Given the description of an element on the screen output the (x, y) to click on. 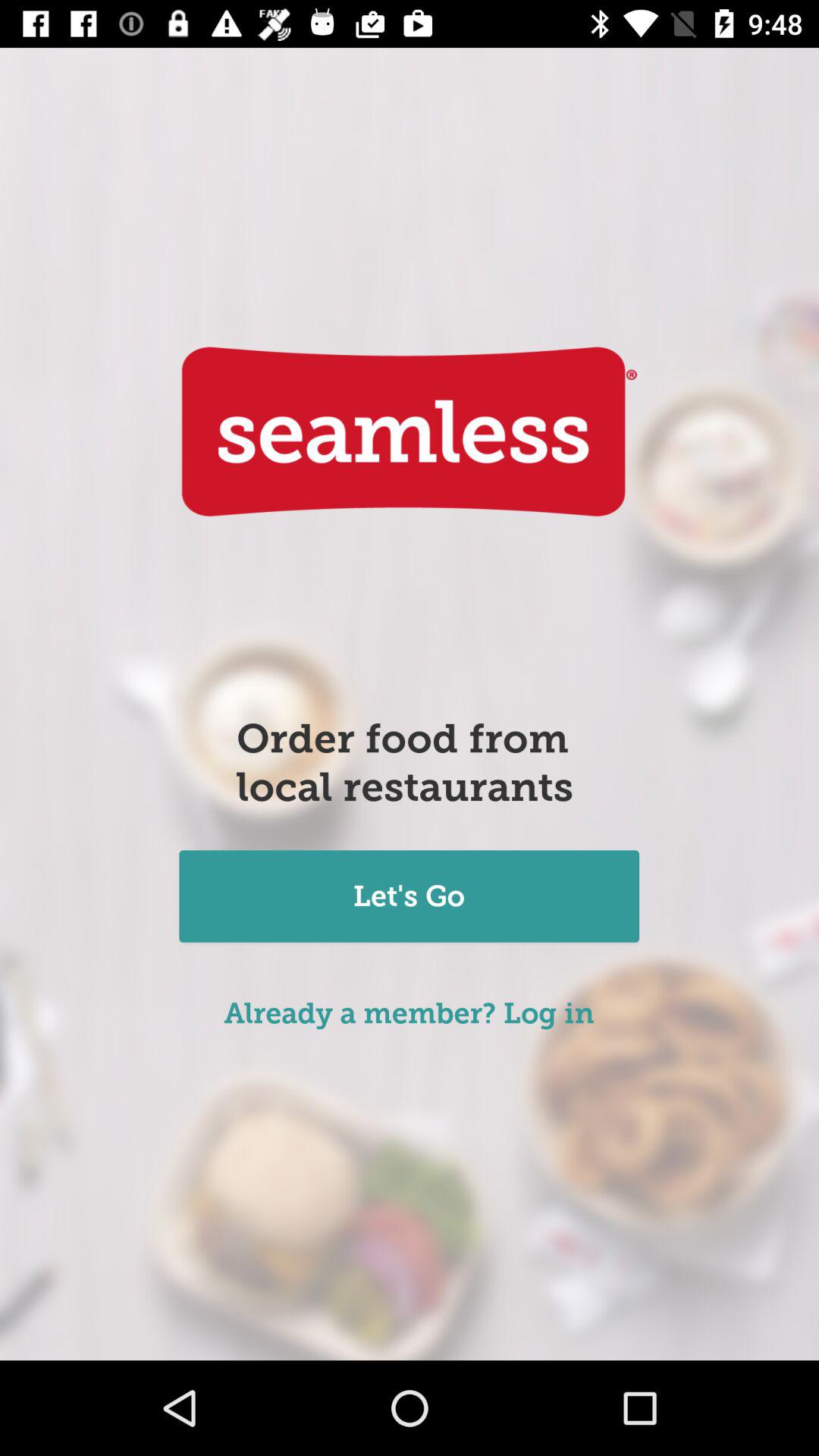
scroll until let's go (409, 897)
